Given the description of an element on the screen output the (x, y) to click on. 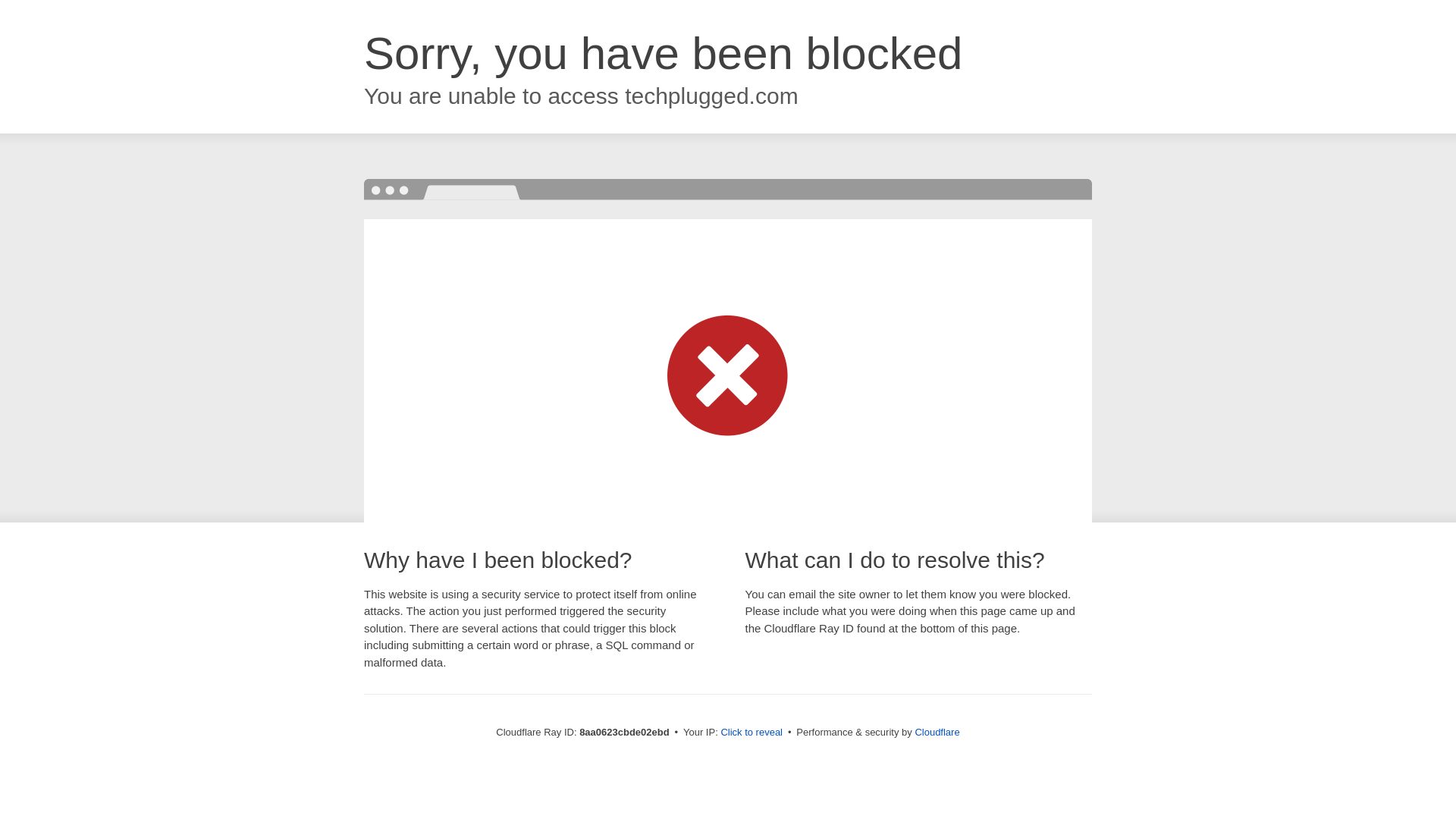
Cloudflare (936, 731)
Click to reveal (751, 732)
